Given the description of an element on the screen output the (x, y) to click on. 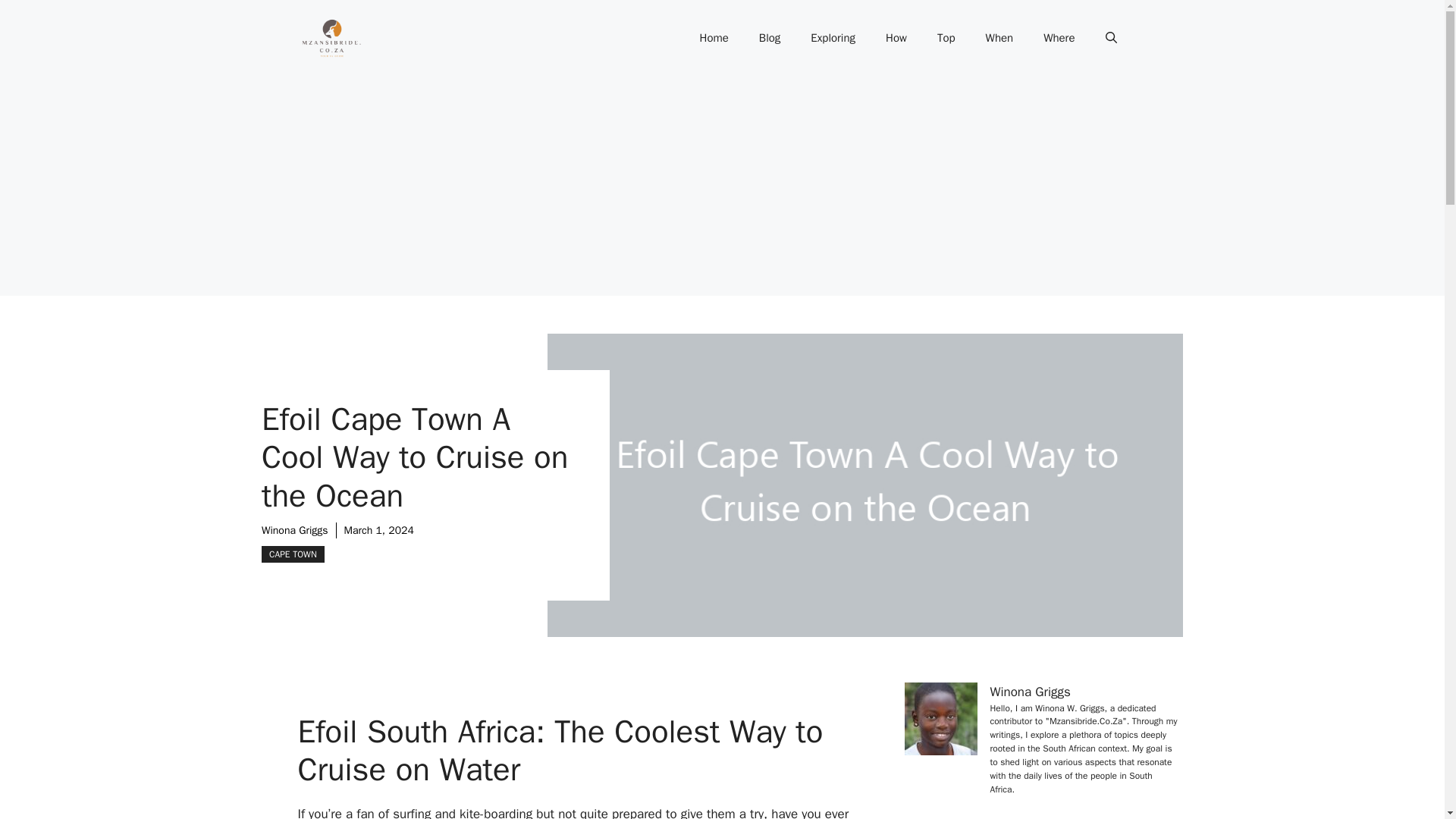
Exploring (832, 37)
Home (713, 37)
Winona Griggs (295, 530)
CAPE TOWN (293, 554)
Blog (769, 37)
Top (946, 37)
How (895, 37)
When (1000, 37)
Where (1058, 37)
